Given the description of an element on the screen output the (x, y) to click on. 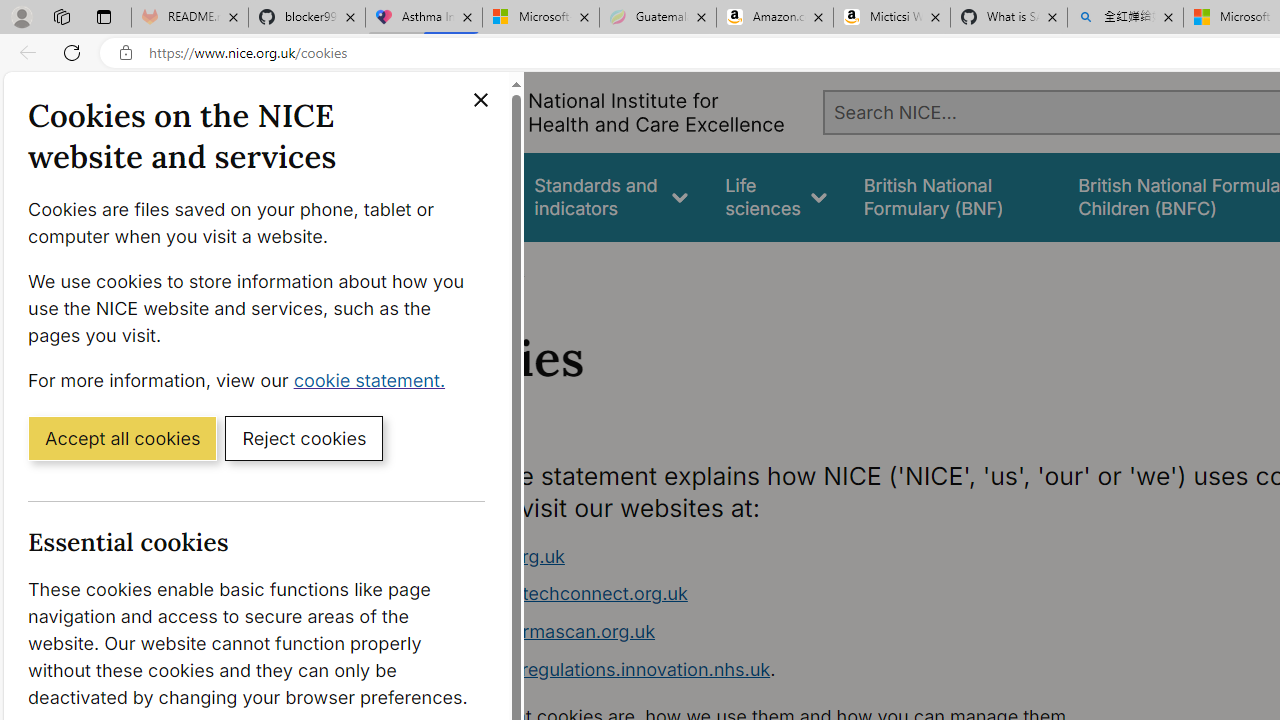
false (952, 196)
www.healthtechconnect.org.uk (796, 594)
www.healthtechconnect.org.uk (554, 593)
Life sciences (776, 196)
www.digitalregulations.innovation.nhs.uk. (796, 669)
Reject cookies (304, 437)
www.ukpharmascan.org.uk (796, 632)
Accept all cookies (122, 437)
Asthma Inhalers: Names and Types (424, 17)
Guidance (458, 196)
